Given the description of an element on the screen output the (x, y) to click on. 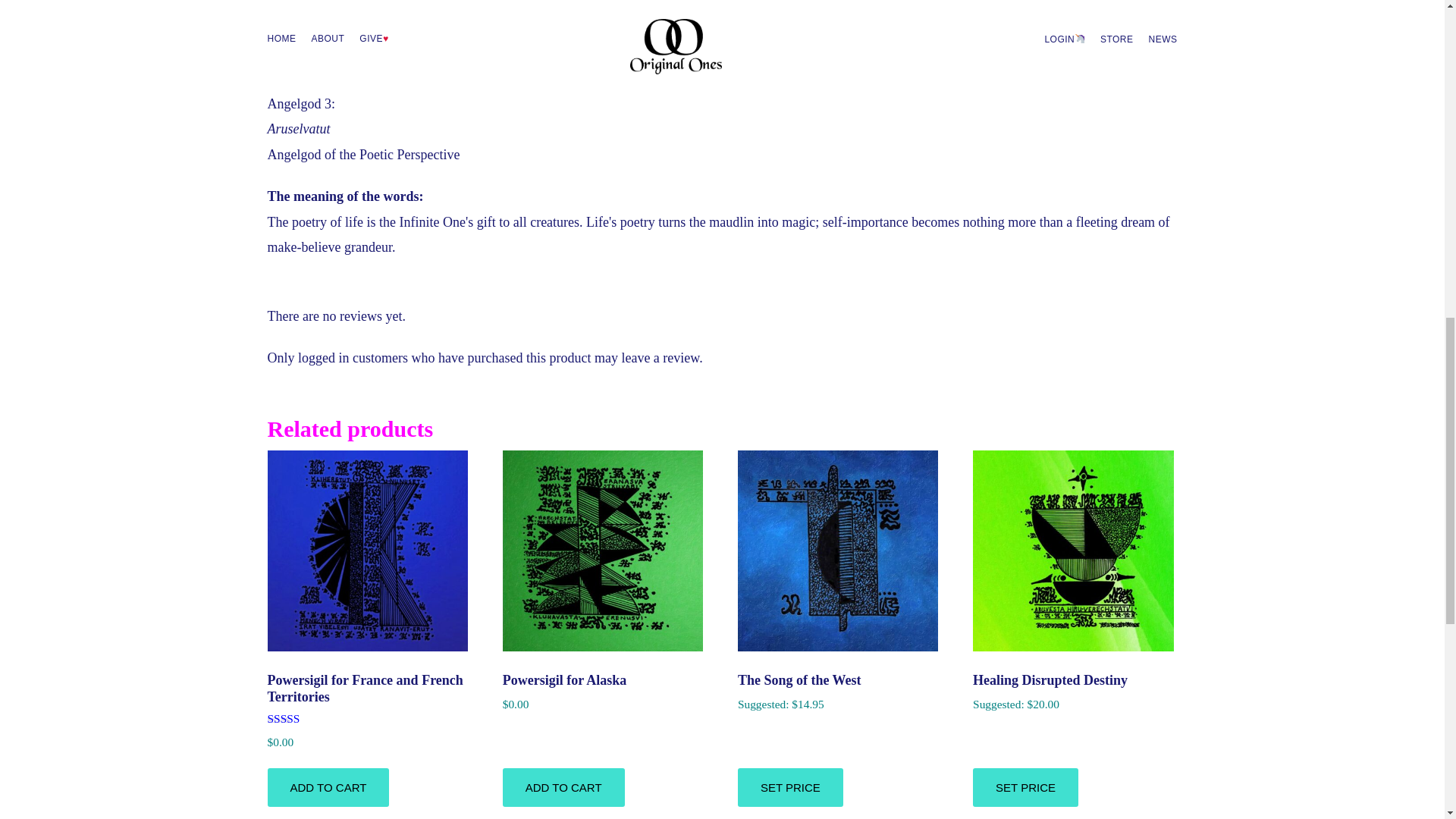
SET PRICE (790, 787)
ADD TO CART (563, 787)
ADD TO CART (327, 787)
SET PRICE (1025, 787)
